Given the description of an element on the screen output the (x, y) to click on. 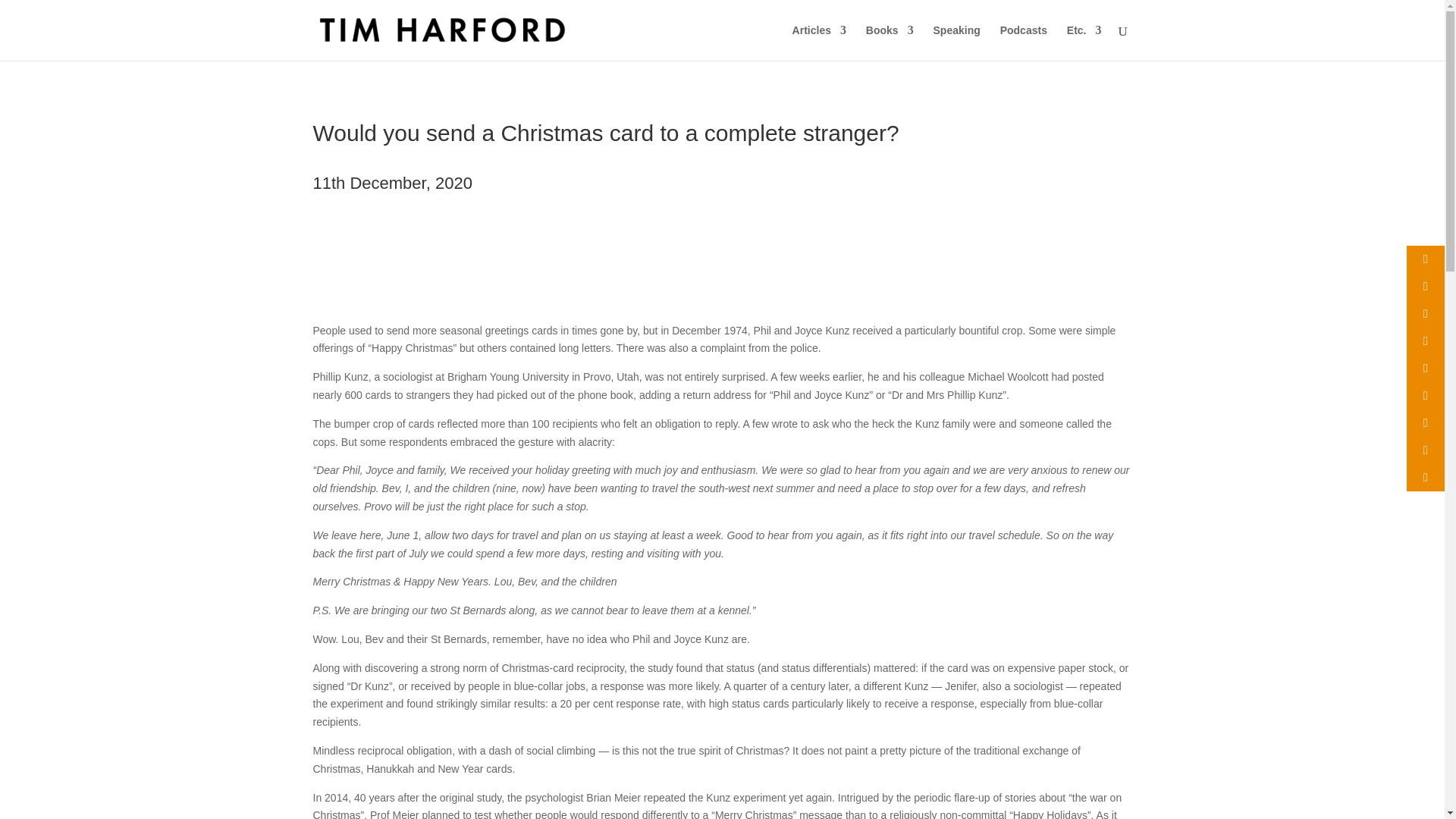
Etc. (1084, 42)
Podcasts (1023, 42)
Books (890, 42)
Articles (818, 42)
Speaking (956, 42)
